Given the description of an element on the screen output the (x, y) to click on. 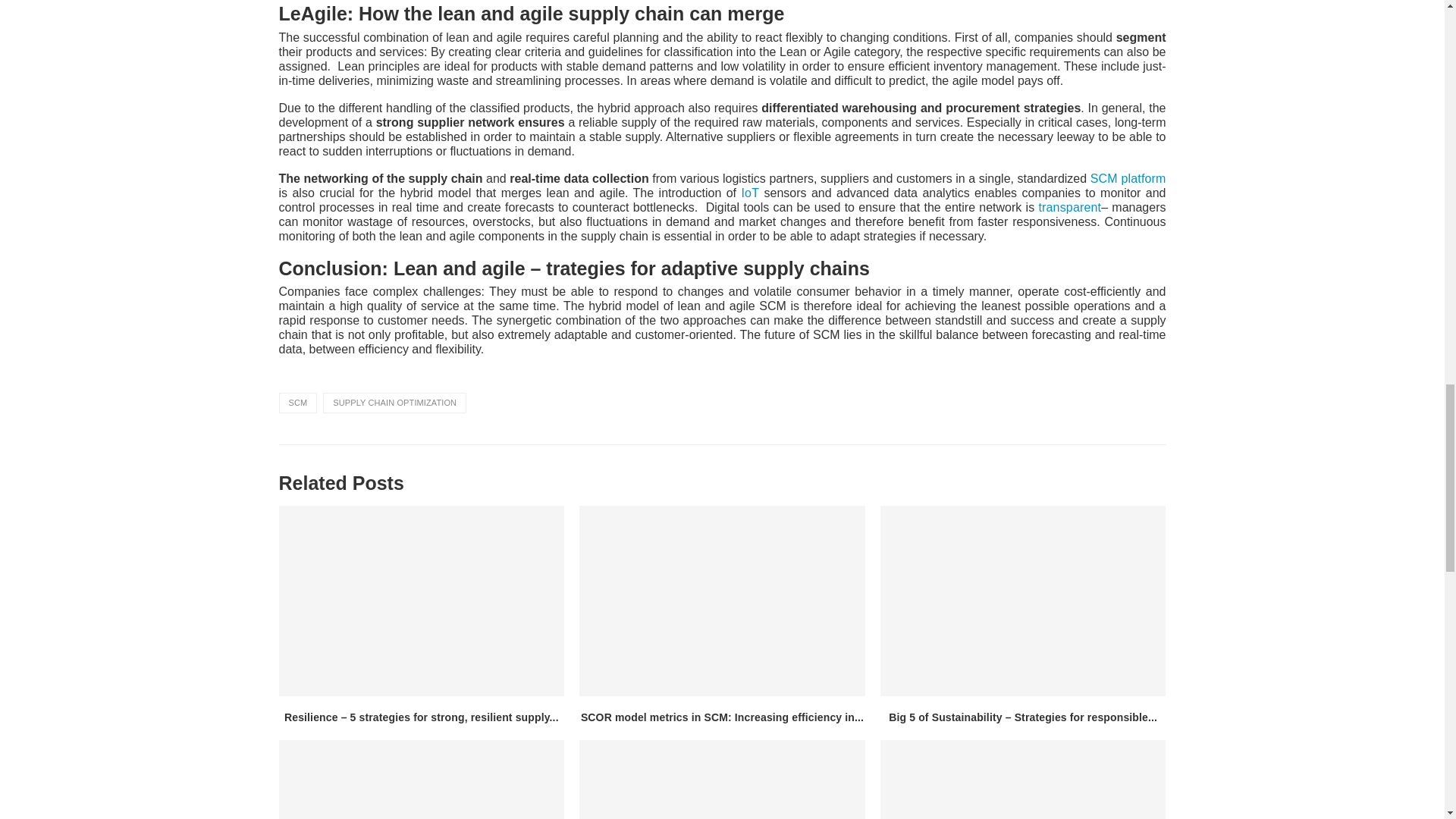
SCM (298, 402)
IoT (749, 192)
SCM platform (1128, 178)
SCOR model metrics in SCM: Increasing efficiency in... (721, 717)
transparent (1069, 206)
SUPPLY CHAIN OPTIMIZATION (394, 402)
